Given the description of an element on the screen output the (x, y) to click on. 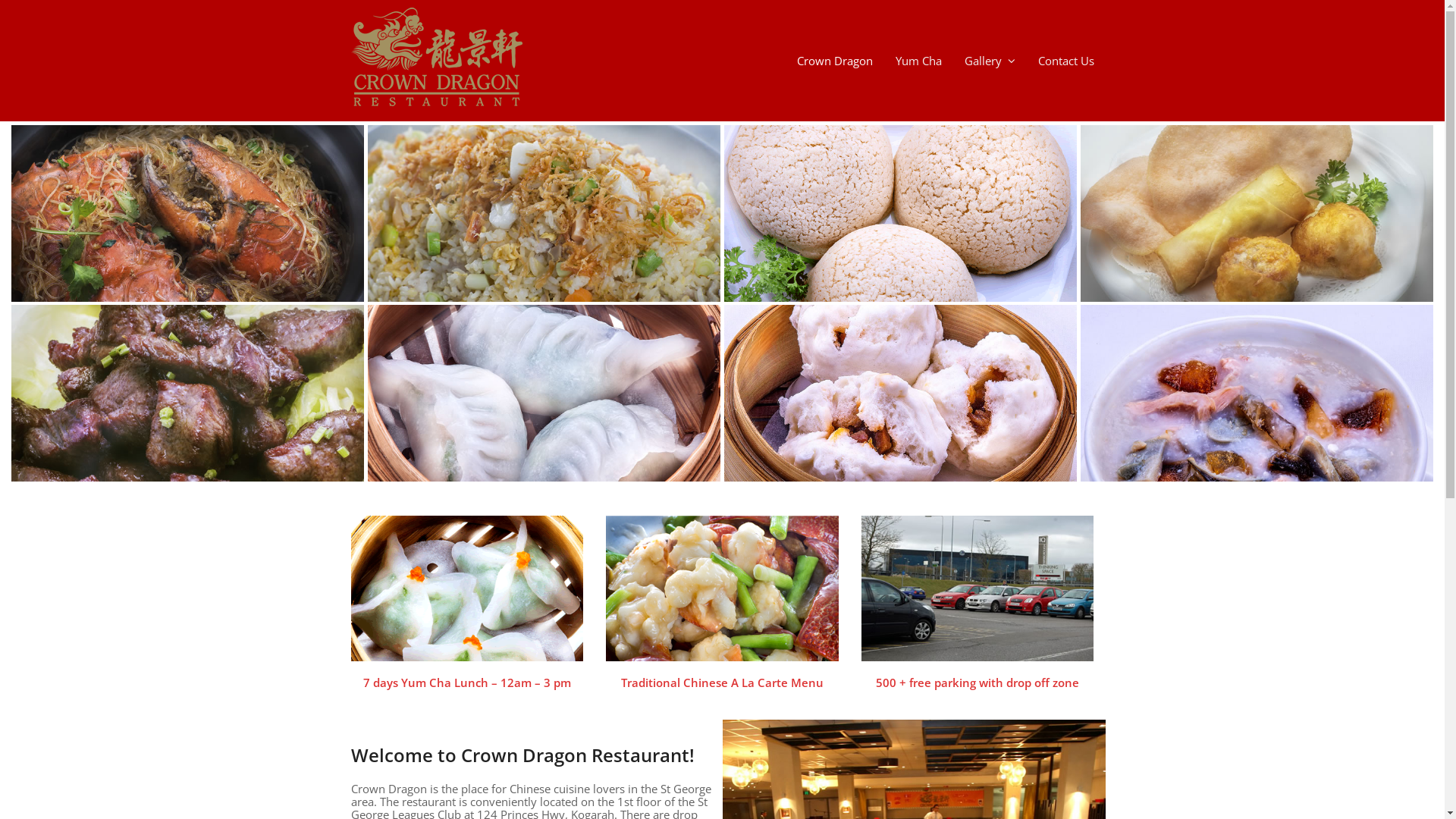
Contact Us Element type: text (1065, 60)
Yum Cha Element type: text (918, 60)
Crown Dragon Element type: text (834, 60)
Gallery Element type: text (989, 60)
